Given the description of an element on the screen output the (x, y) to click on. 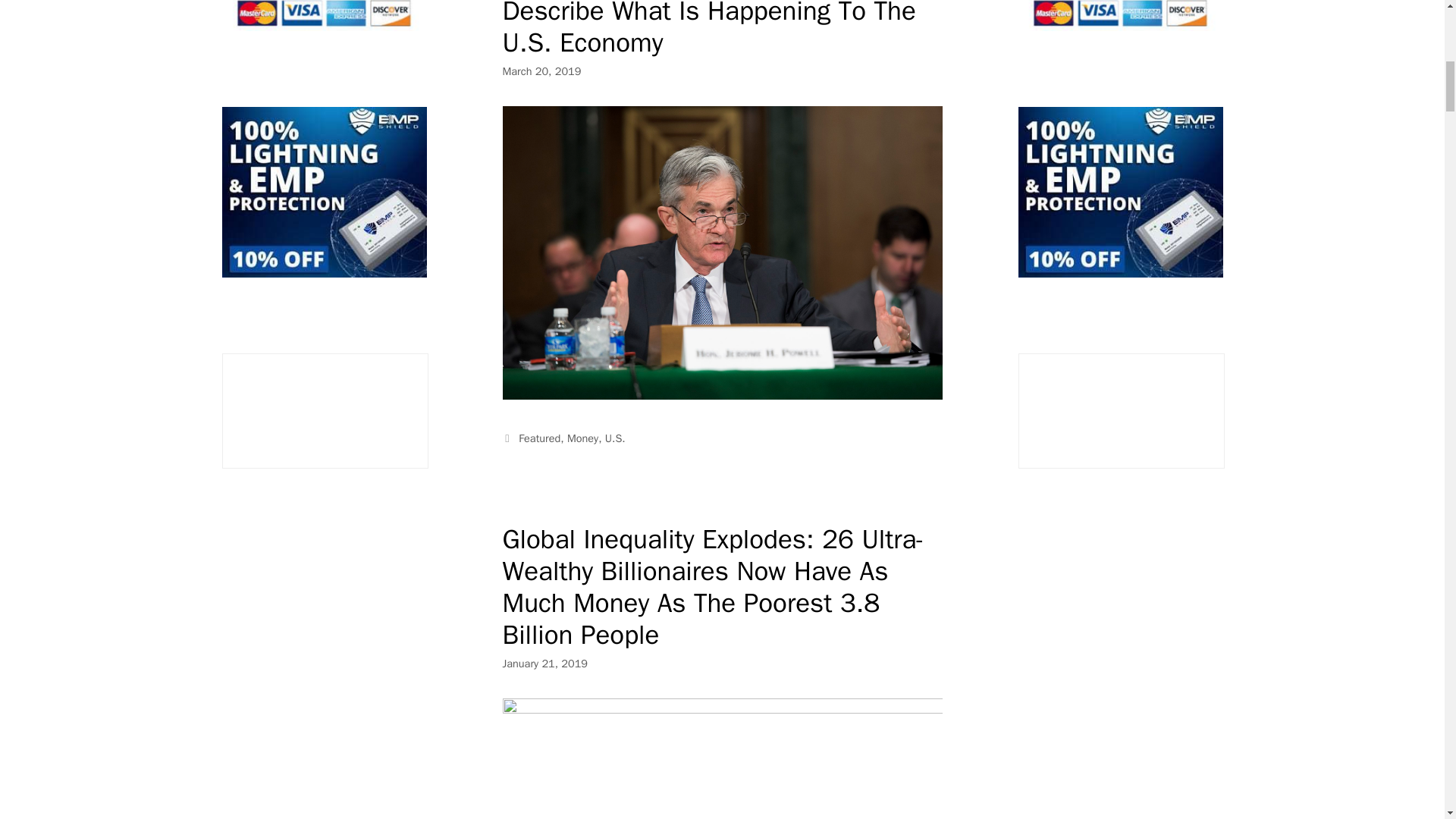
Featured (539, 438)
Money (582, 438)
U.S. (615, 438)
Featured (539, 438)
U.S. (615, 438)
Money (582, 438)
